Given the description of an element on the screen output the (x, y) to click on. 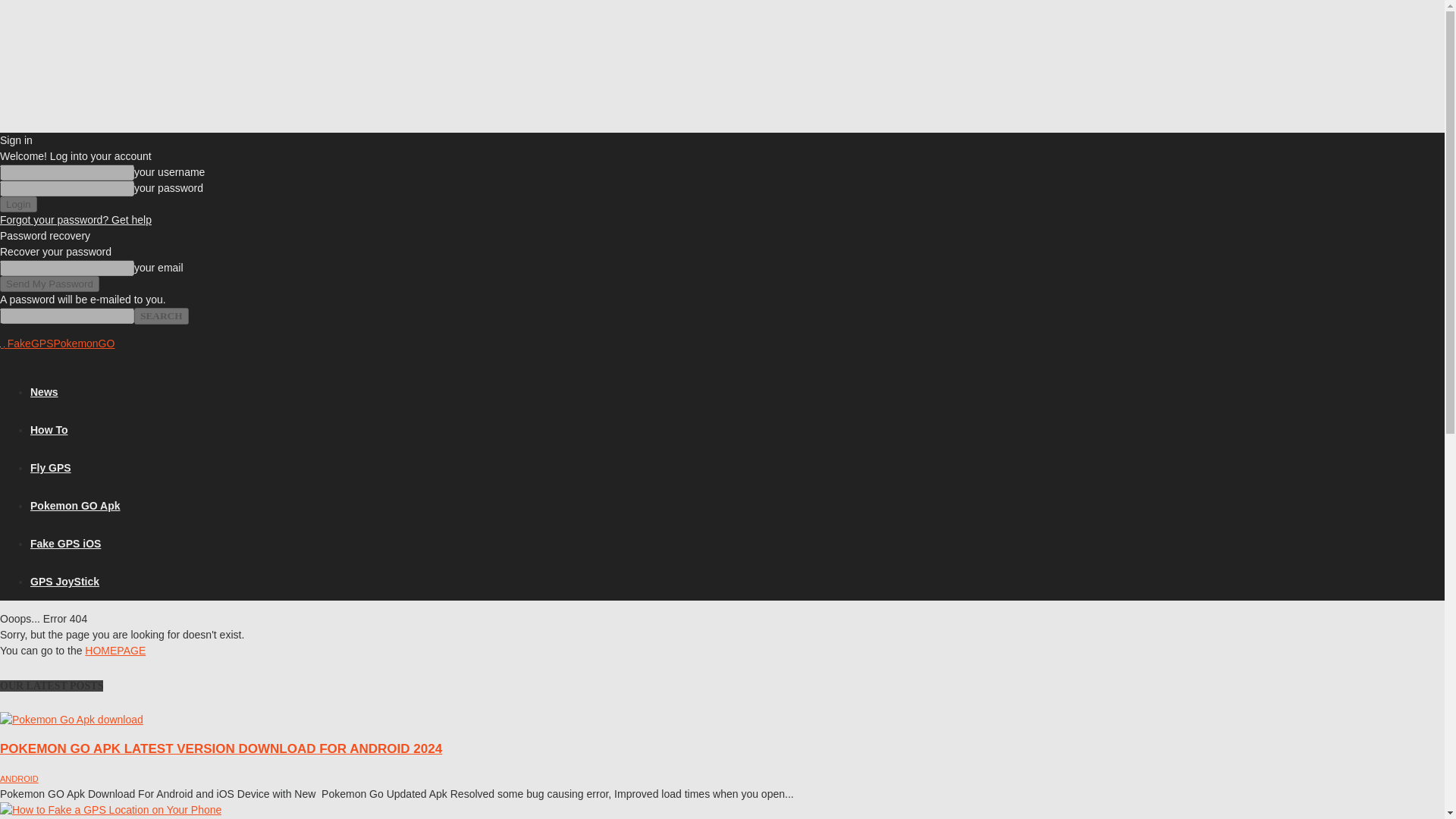
Fly GPS (50, 467)
Search (161, 315)
Pokemon GO Apk Latest Version Download For Android 2024 (221, 748)
Pokemon GO Apk (75, 505)
Search (161, 315)
Login (18, 204)
Send My Password (49, 283)
Pokemon GO Apk Latest Version Download For Android 2024 (71, 719)
GPS JoyStick (64, 581)
POKEMON GO APK LATEST VERSION DOWNLOAD FOR ANDROID 2024 (221, 748)
Fake GPS iOS (65, 543)
FakeGPSPokemonGO (59, 343)
HOMEPAGE (114, 650)
